Given the description of an element on the screen output the (x, y) to click on. 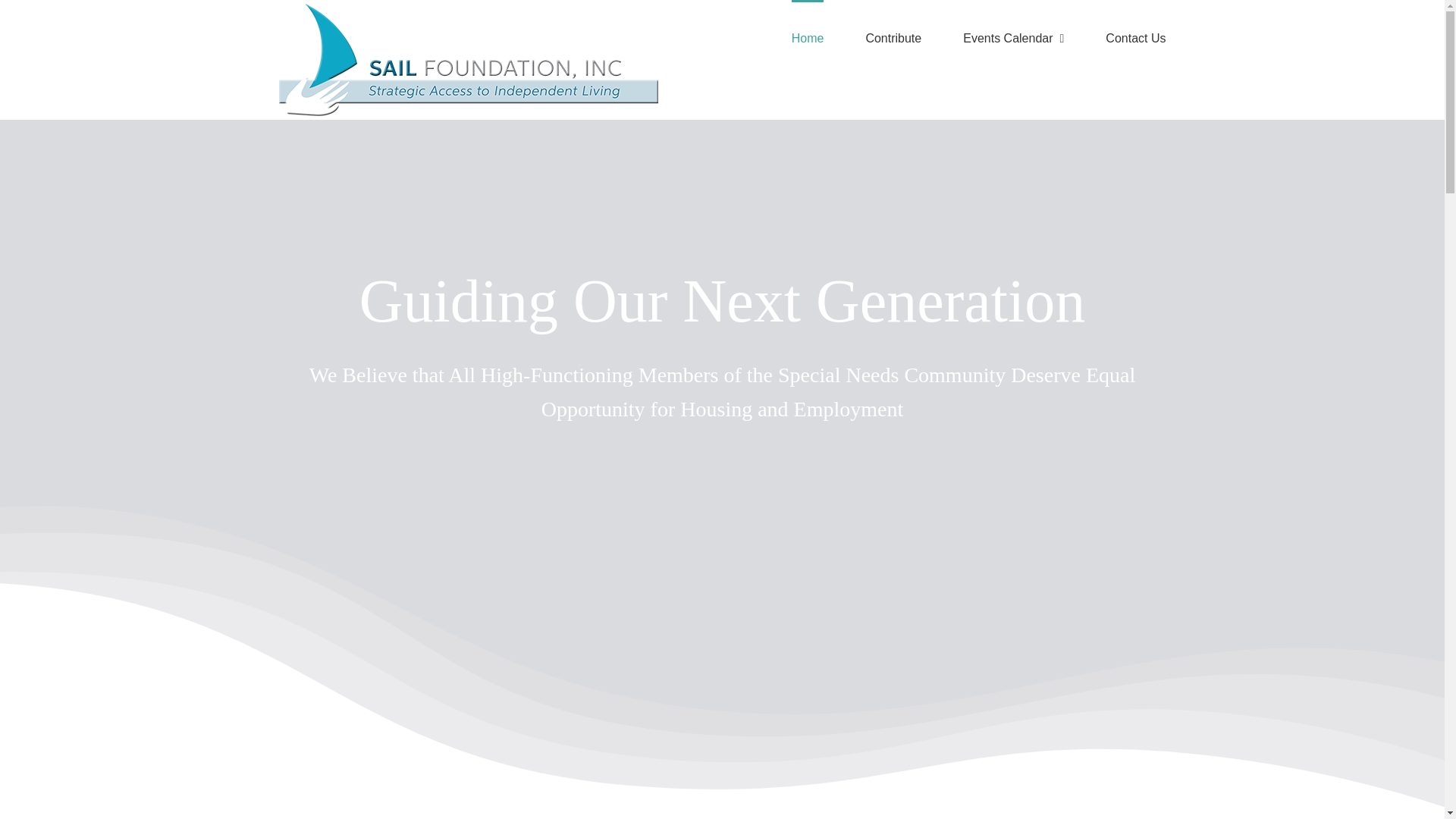
Events Calendar (1013, 37)
